Given the description of an element on the screen output the (x, y) to click on. 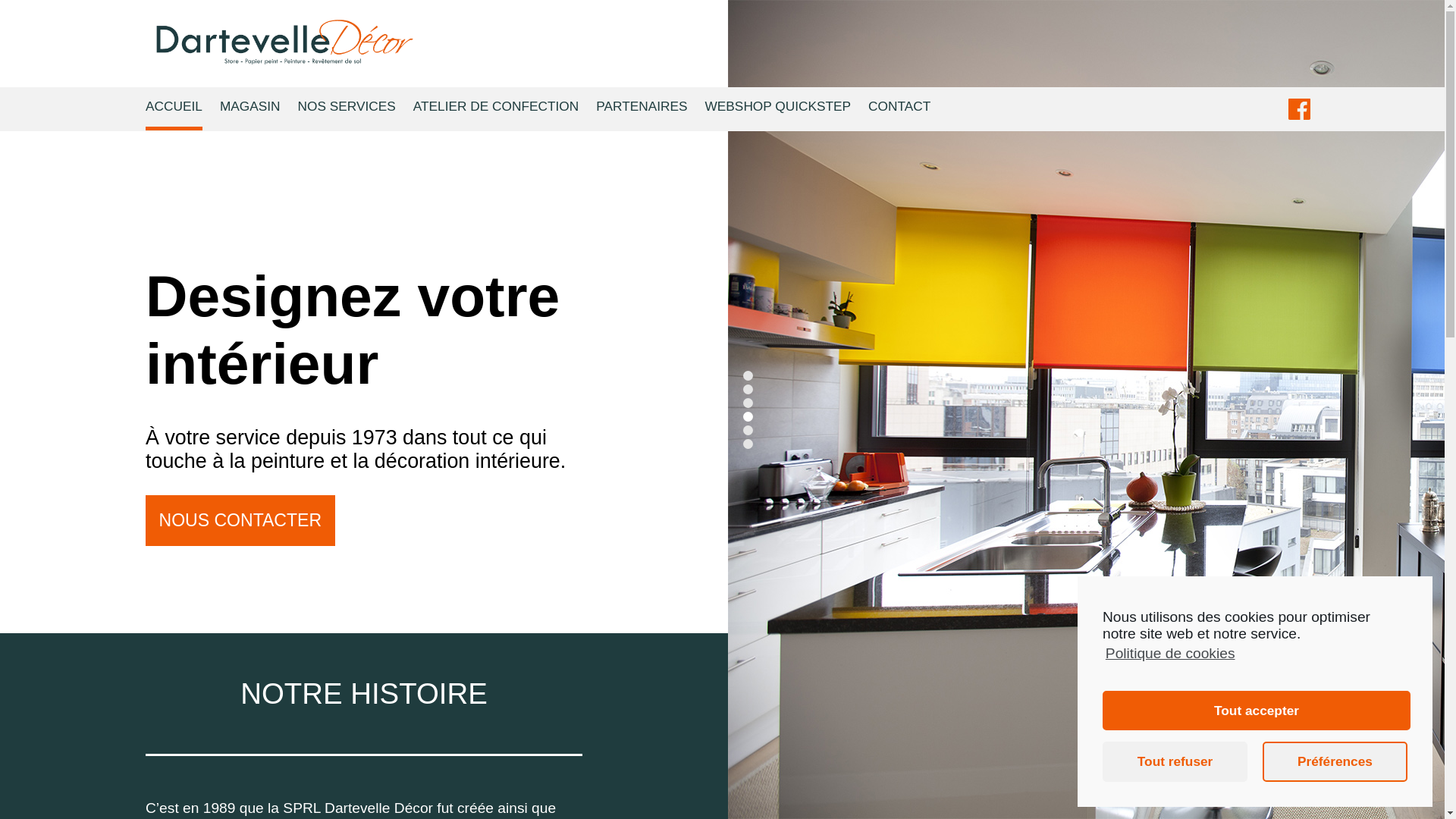
CONTACT Element type: text (899, 108)
MAGASIN Element type: text (249, 108)
ACCUEIL Element type: text (173, 108)
ATELIER DE CONFECTION Element type: text (495, 108)
NOS SERVICES Element type: text (346, 108)
NOUS CONTACTER Element type: text (240, 520)
Tout refuser Element type: text (1174, 761)
PARTENAIRES Element type: text (641, 108)
WEBSHOP QUICKSTEP Element type: text (778, 108)
Politique de cookies Element type: text (1168, 653)
Tout accepter Element type: text (1256, 710)
